Given the description of an element on the screen output the (x, y) to click on. 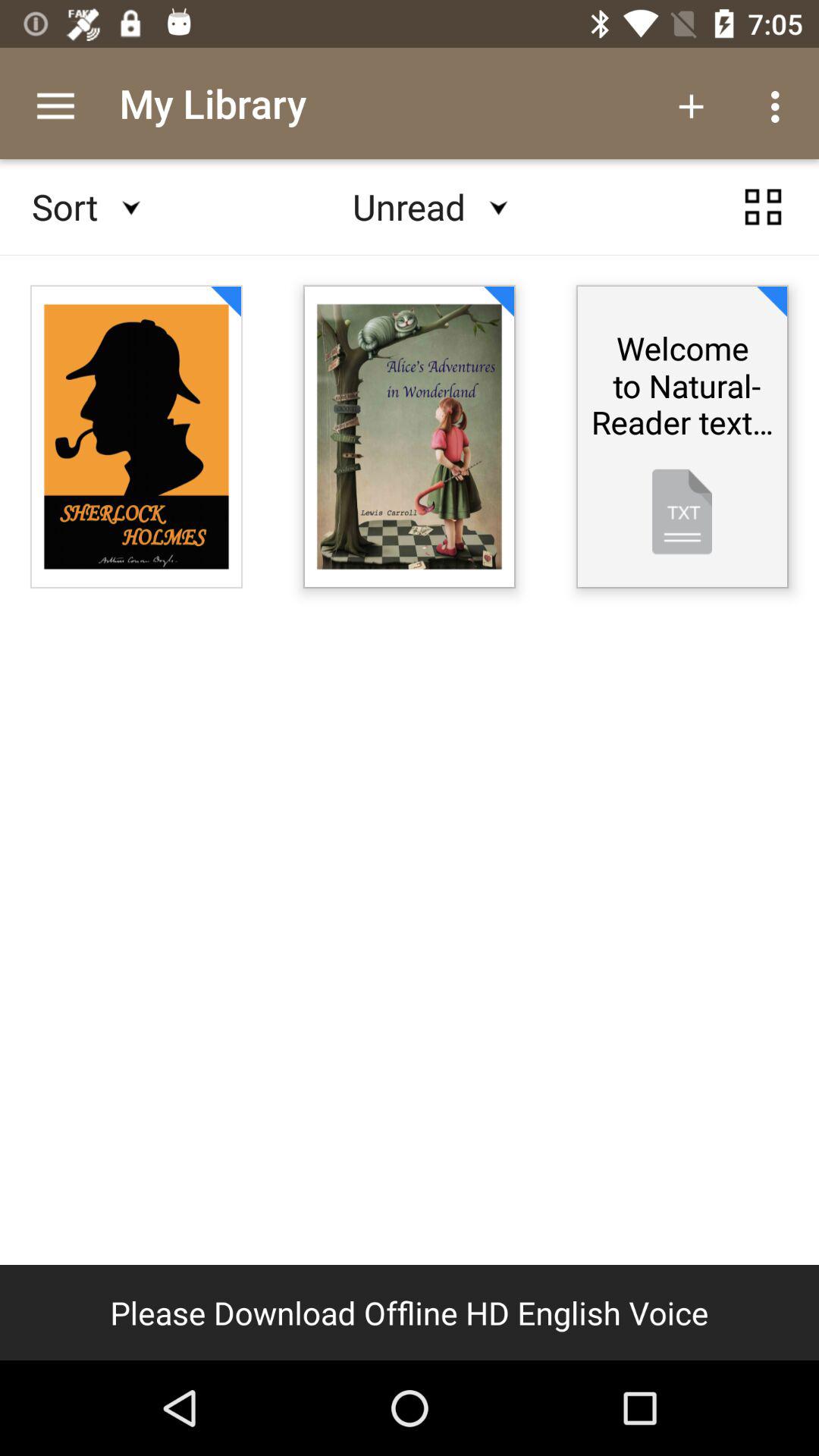
select the second image which is under unread (409, 436)
